Given the description of an element on the screen output the (x, y) to click on. 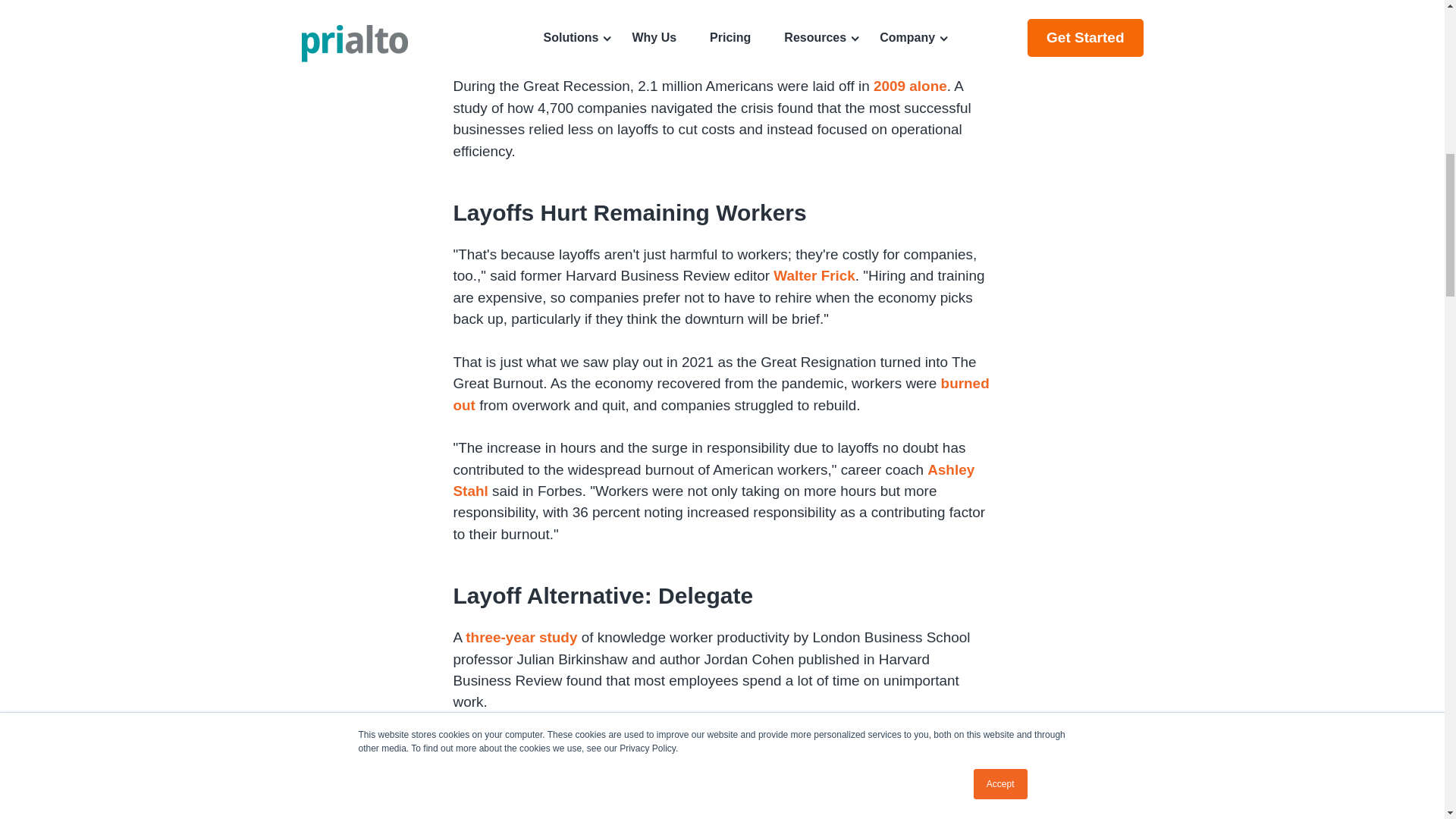
Ashley Stahl (713, 479)
burned out (721, 393)
Walter Frick (813, 275)
three-year study (520, 637)
2009 alone (910, 85)
